Given the description of an element on the screen output the (x, y) to click on. 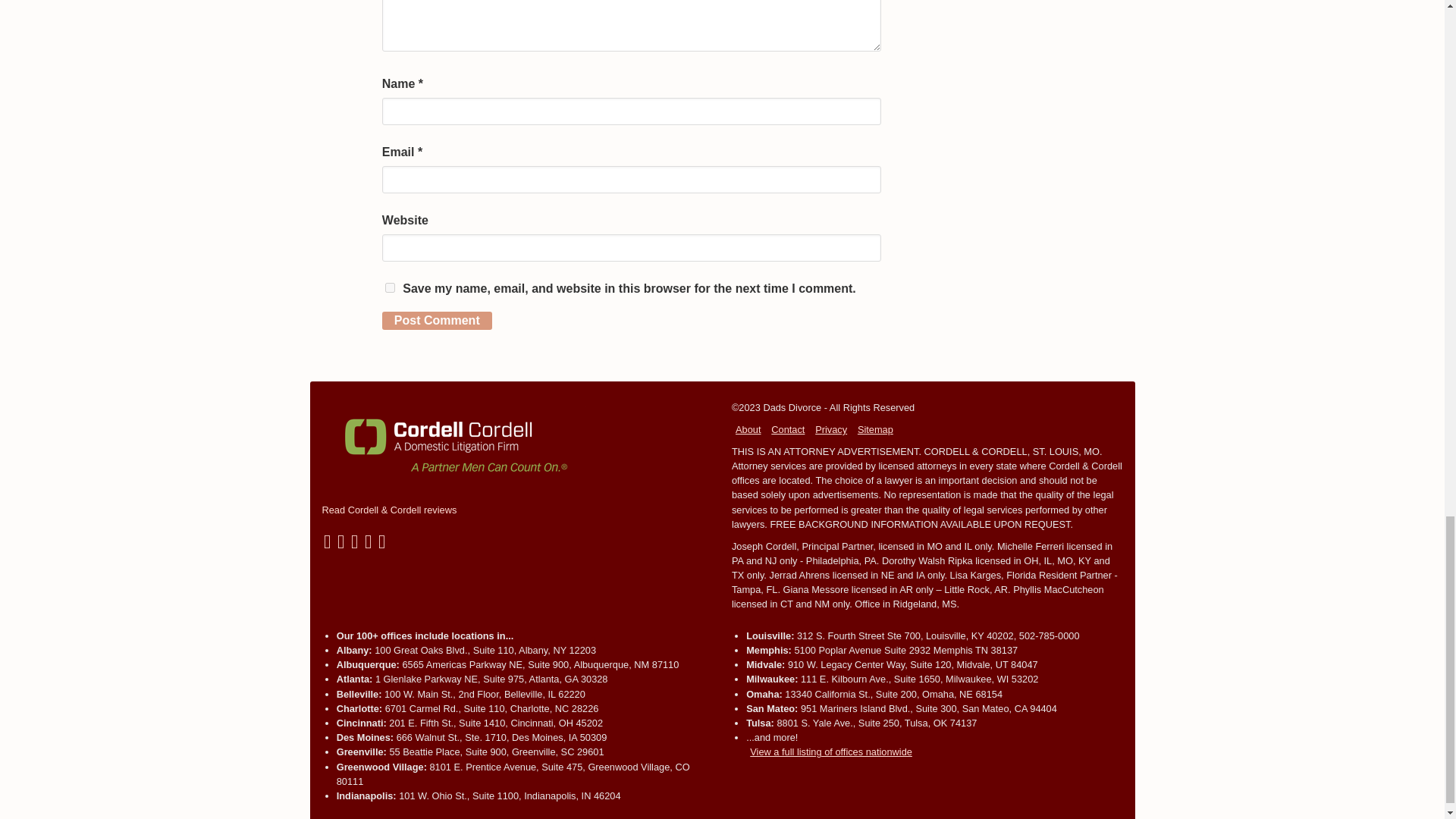
yes (389, 287)
Post Comment (436, 321)
Post Comment (436, 321)
